Given the description of an element on the screen output the (x, y) to click on. 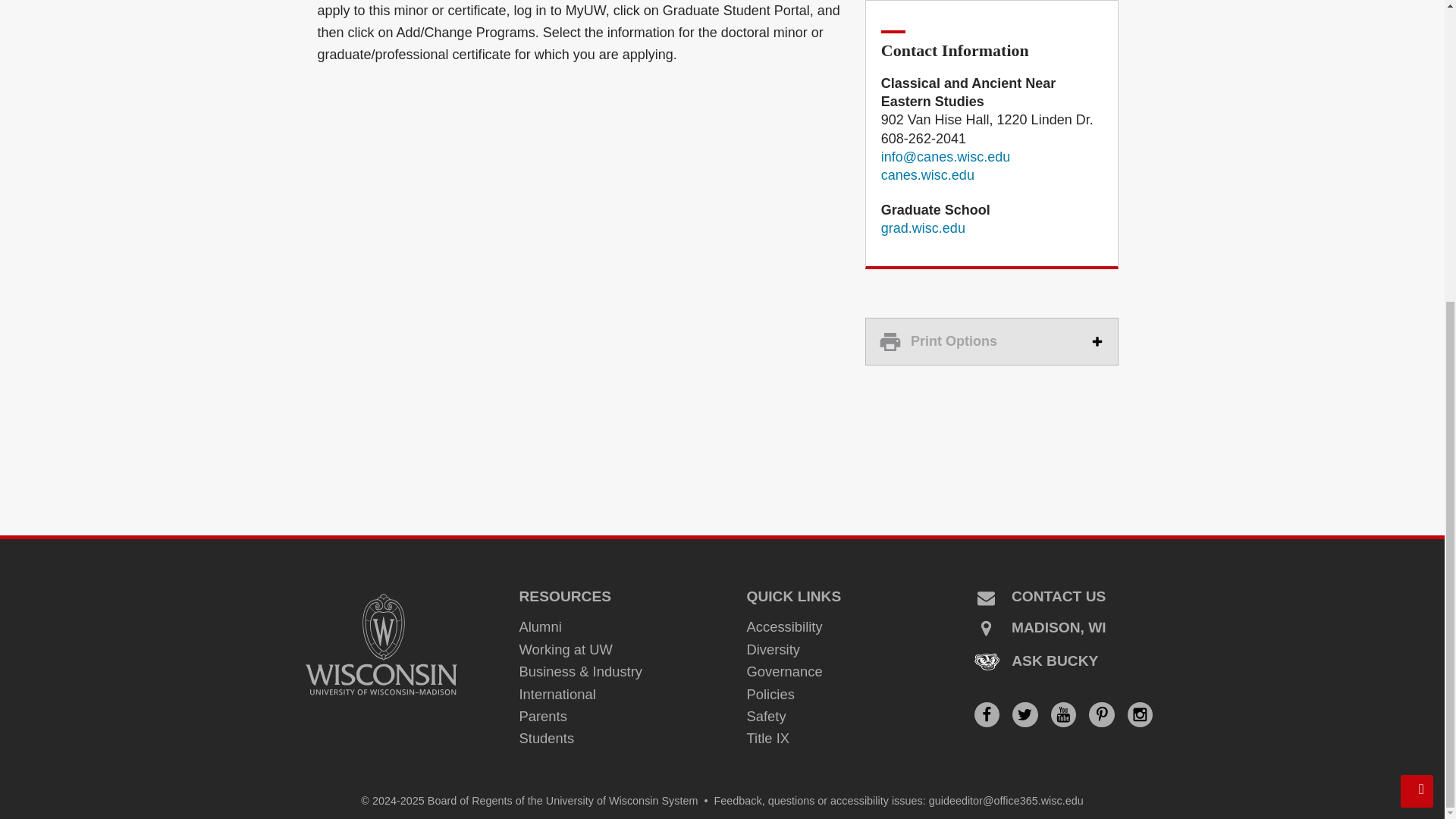
University of Wisconsin System (622, 800)
canes.wisc.edu (991, 341)
grad.wisc.edu (927, 174)
University logo that links to home page (922, 227)
University logo that links to home page (380, 644)
